Given the description of an element on the screen output the (x, y) to click on. 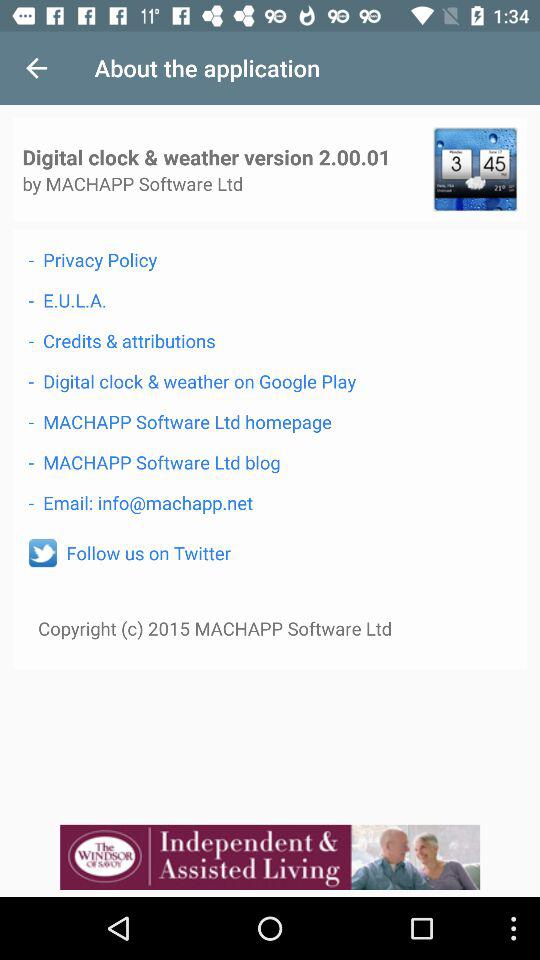
go to app (475, 169)
